Given the description of an element on the screen output the (x, y) to click on. 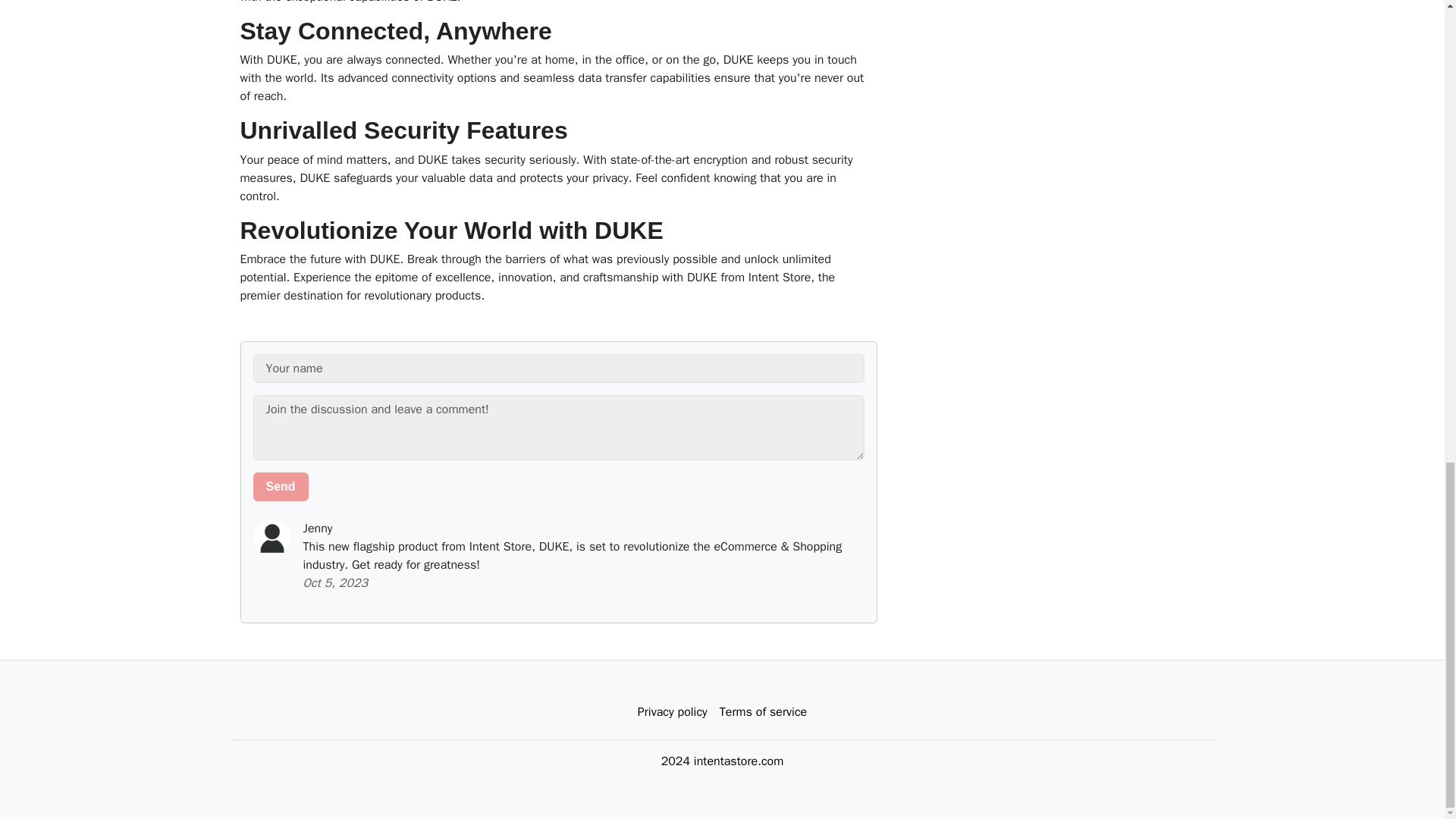
Send (280, 486)
Terms of service (762, 711)
Send (280, 486)
Privacy policy (672, 711)
